Given the description of an element on the screen output the (x, y) to click on. 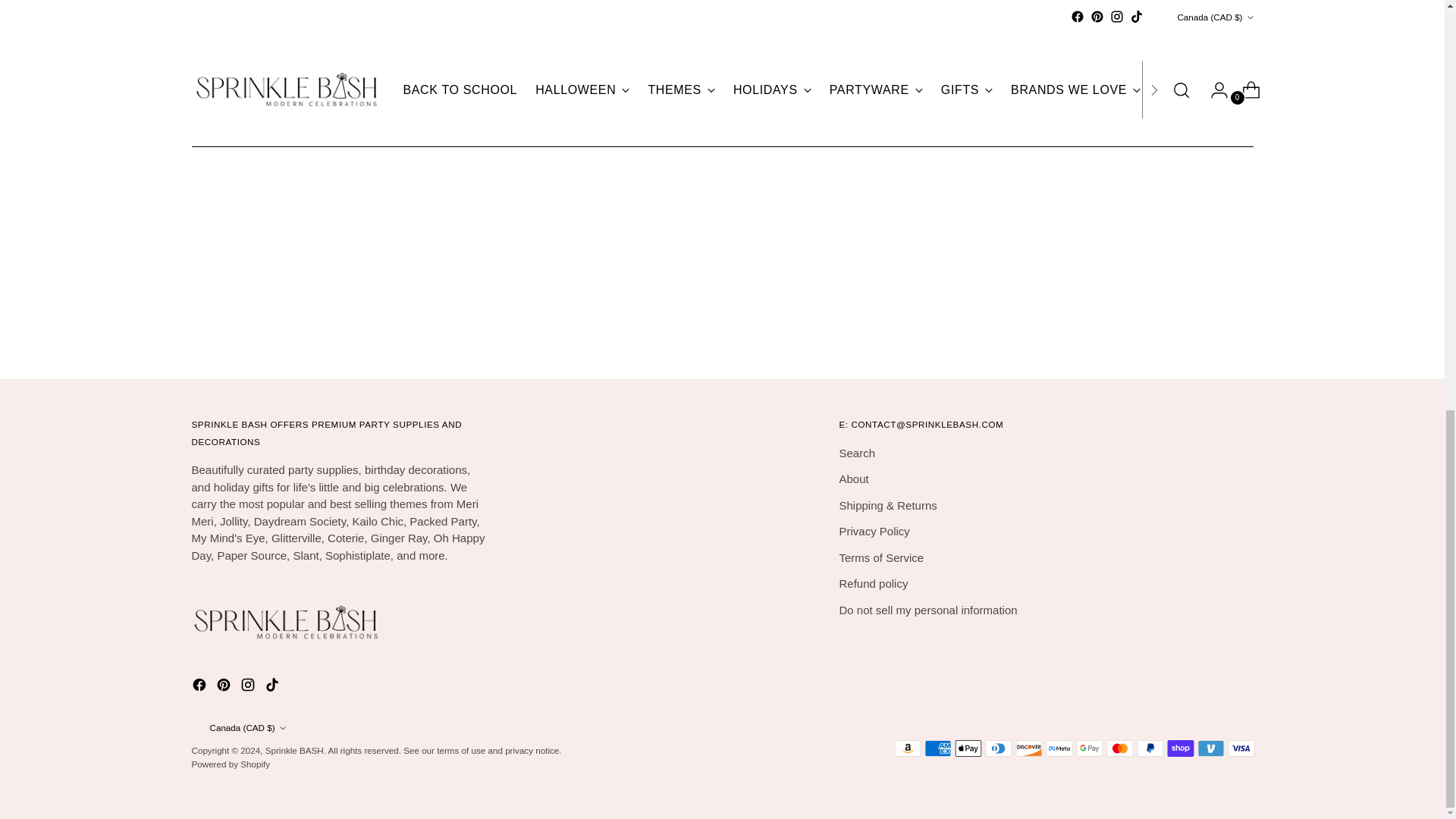
Sprinkle BASH on Tiktok (272, 687)
Sprinkle BASH on Pinterest (223, 687)
